Given the description of an element on the screen output the (x, y) to click on. 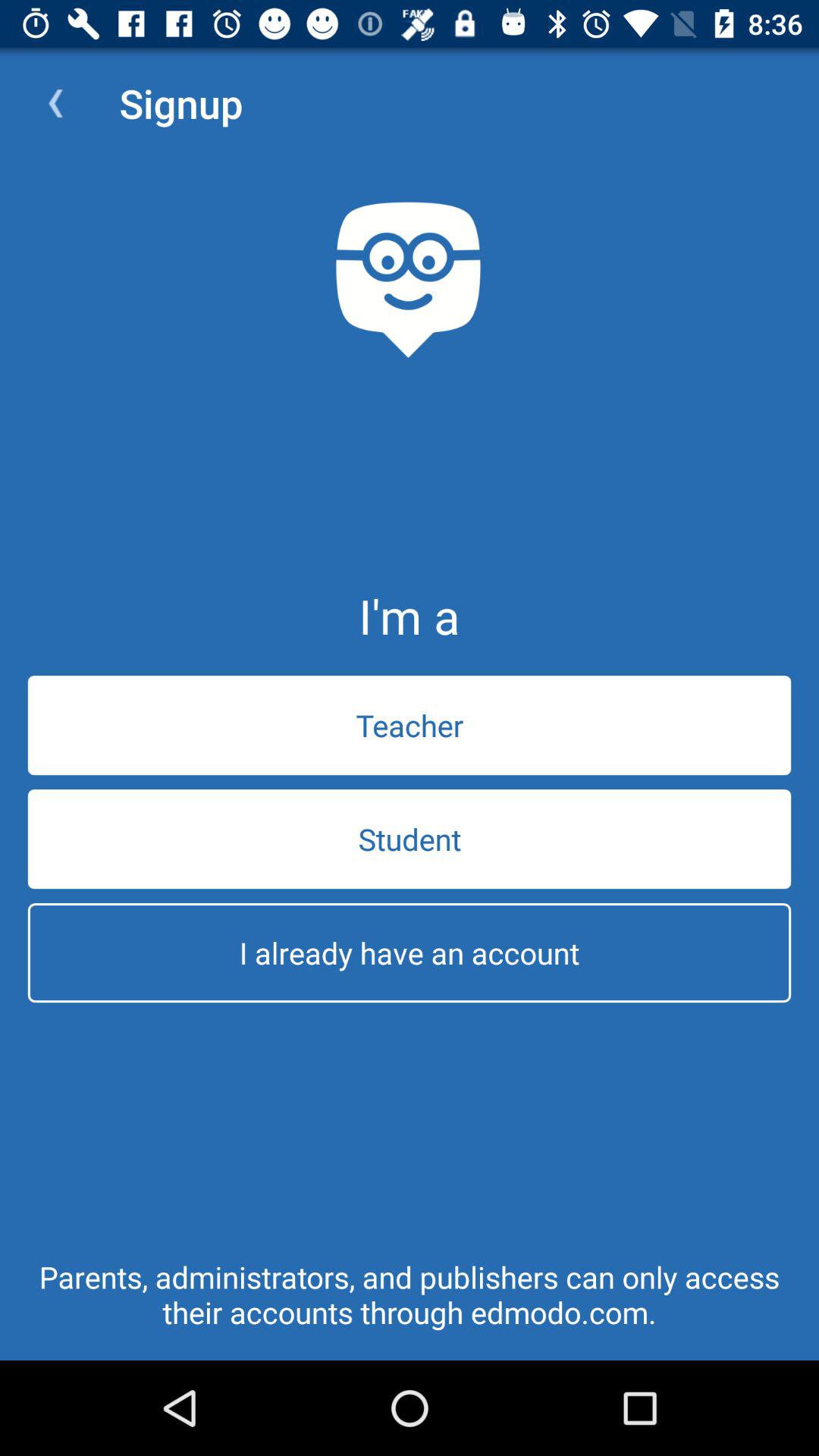
open icon above parents administrators and item (409, 952)
